Given the description of an element on the screen output the (x, y) to click on. 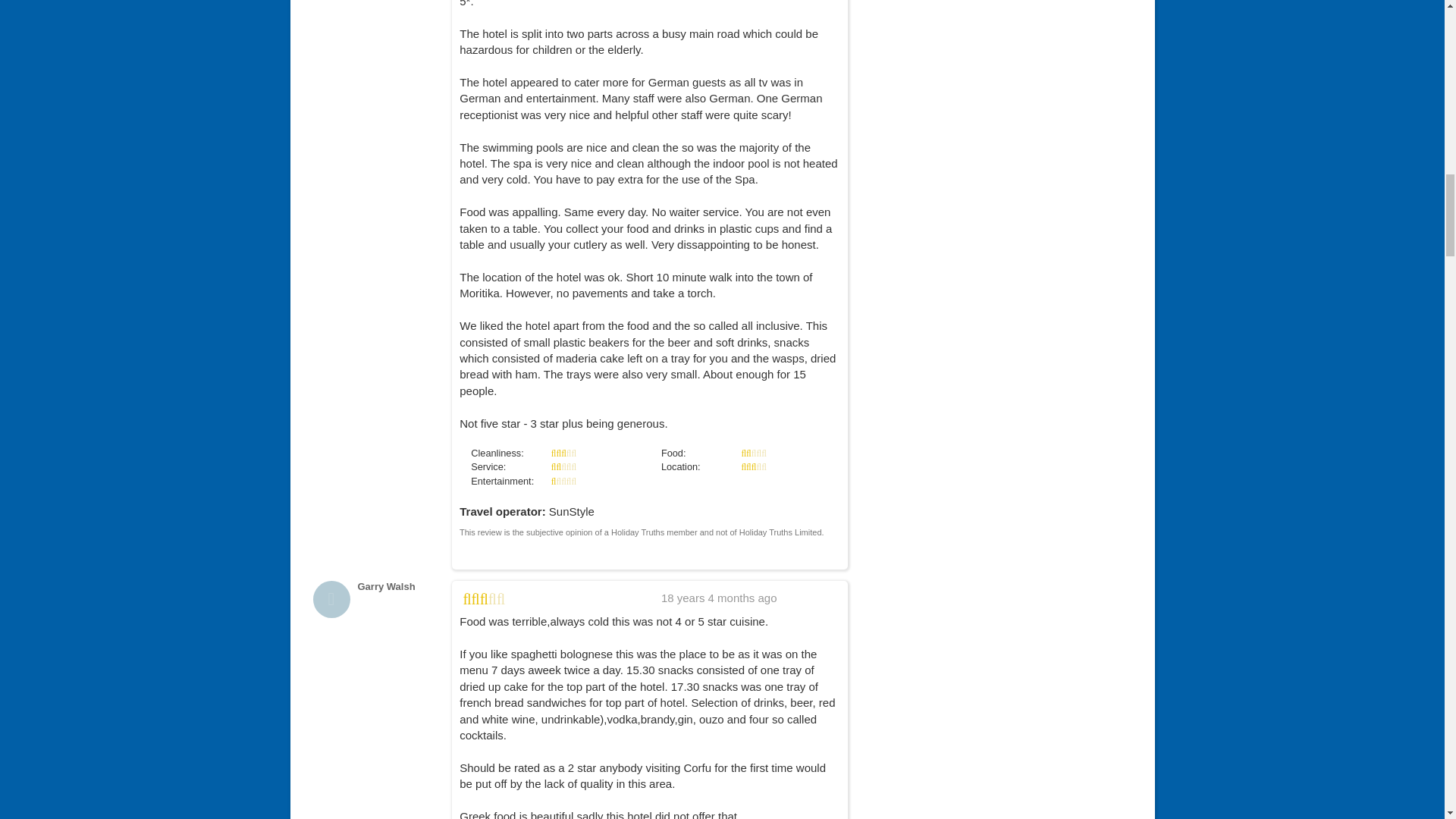
Good (563, 452)
Average (563, 466)
Poor (563, 480)
Good (753, 466)
Good (484, 599)
Average (753, 452)
